Given the description of an element on the screen output the (x, y) to click on. 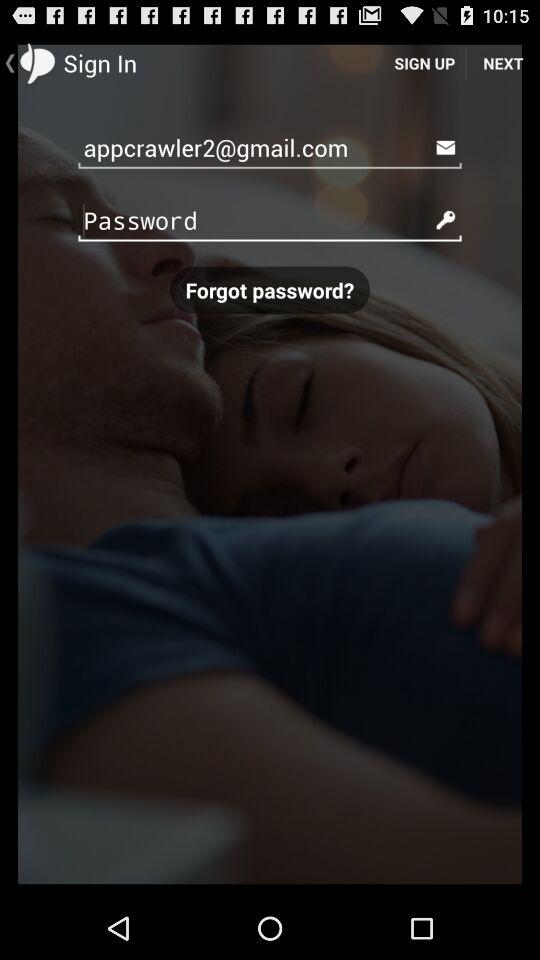
open sign up (424, 62)
